Given the description of an element on the screen output the (x, y) to click on. 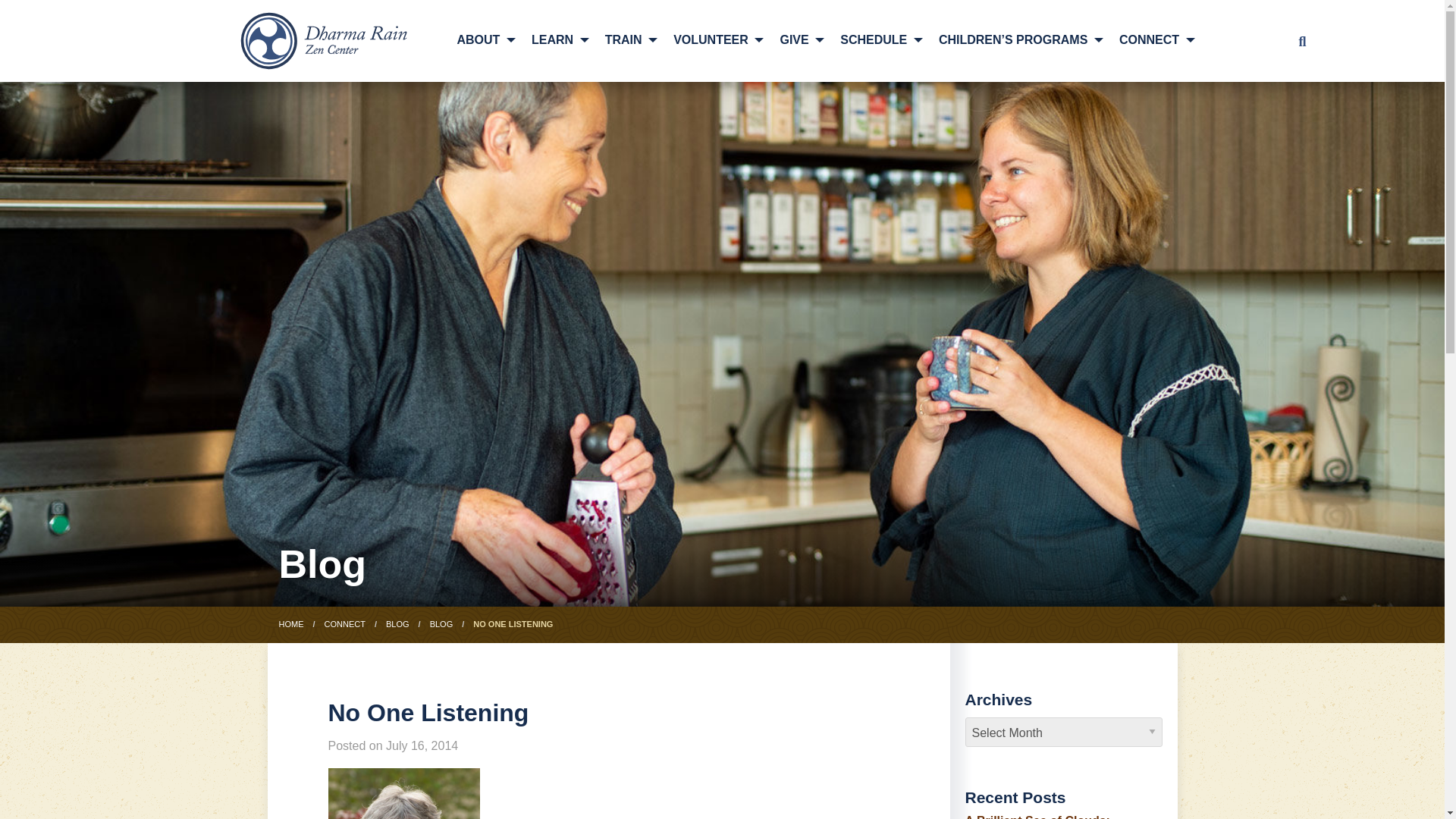
Go to Connect. (344, 623)
TRAIN (626, 39)
Go to Blog. (397, 623)
Go to the Blog category archives. (440, 623)
ABOUT (481, 39)
LEARN (555, 39)
